Given the description of an element on the screen output the (x, y) to click on. 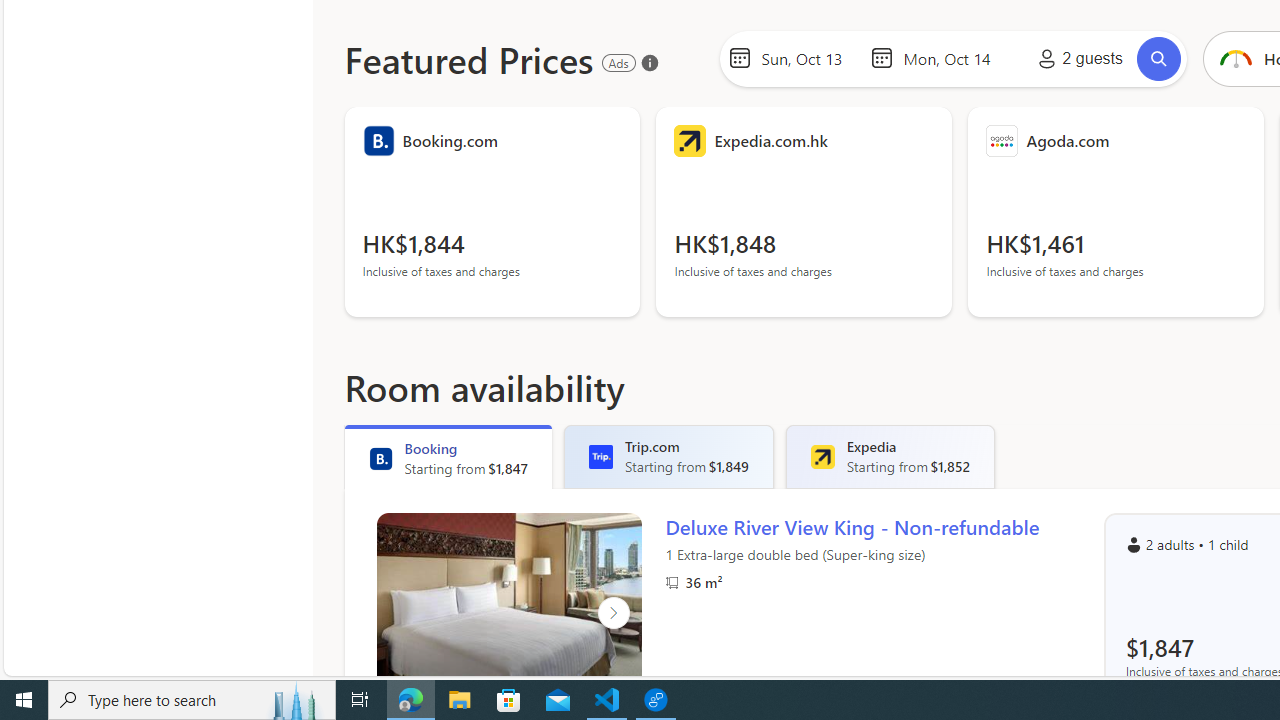
Start Date (810, 57)
Hotel Price trend (1234, 58)
TripDotCom Trip.com Starting from $1,849 (669, 456)
Expedia (822, 456)
End date (952, 57)
